Given the description of an element on the screen output the (x, y) to click on. 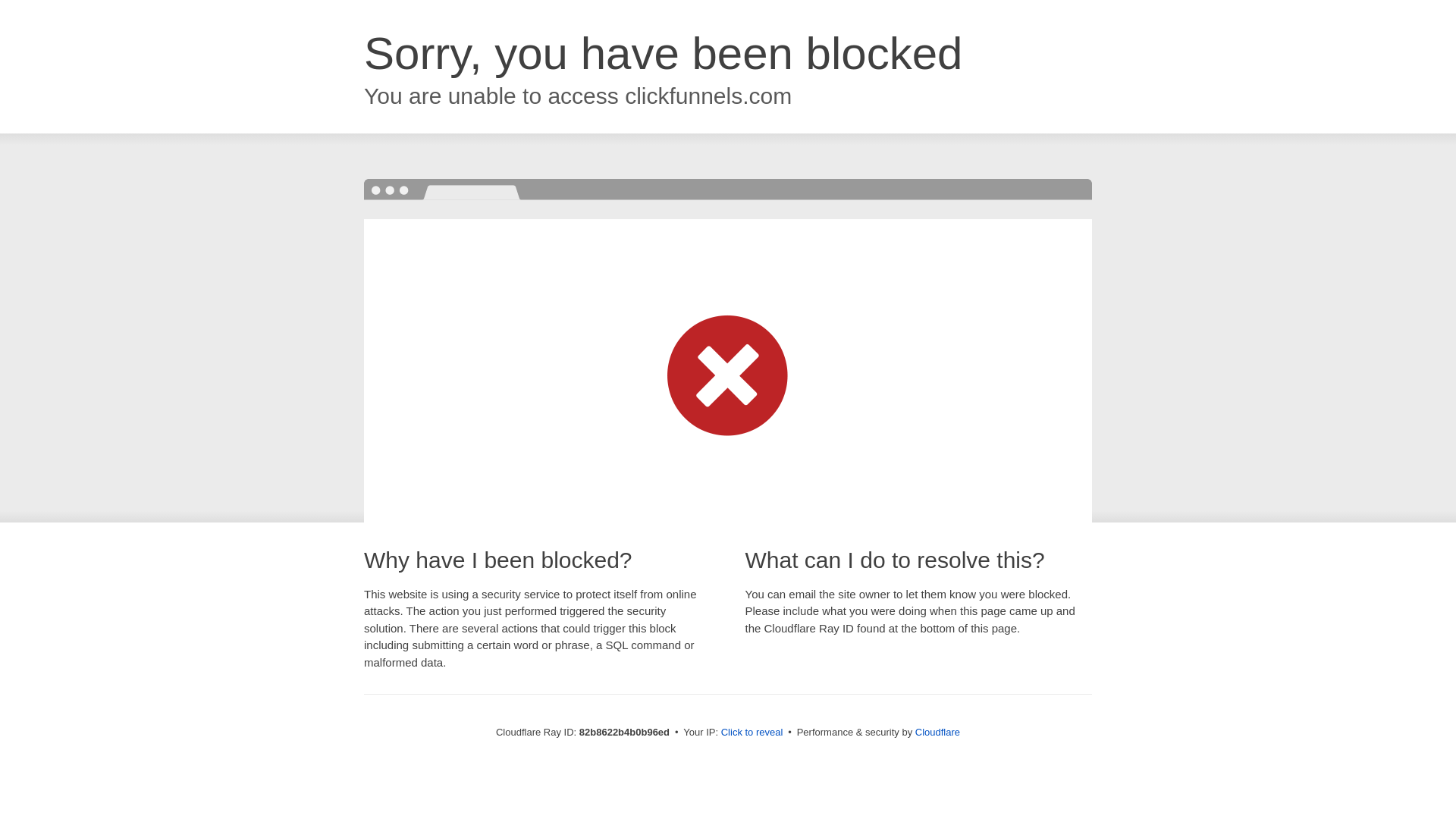
Click to reveal Element type: text (752, 732)
Cloudflare Element type: text (937, 731)
